Given the description of an element on the screen output the (x, y) to click on. 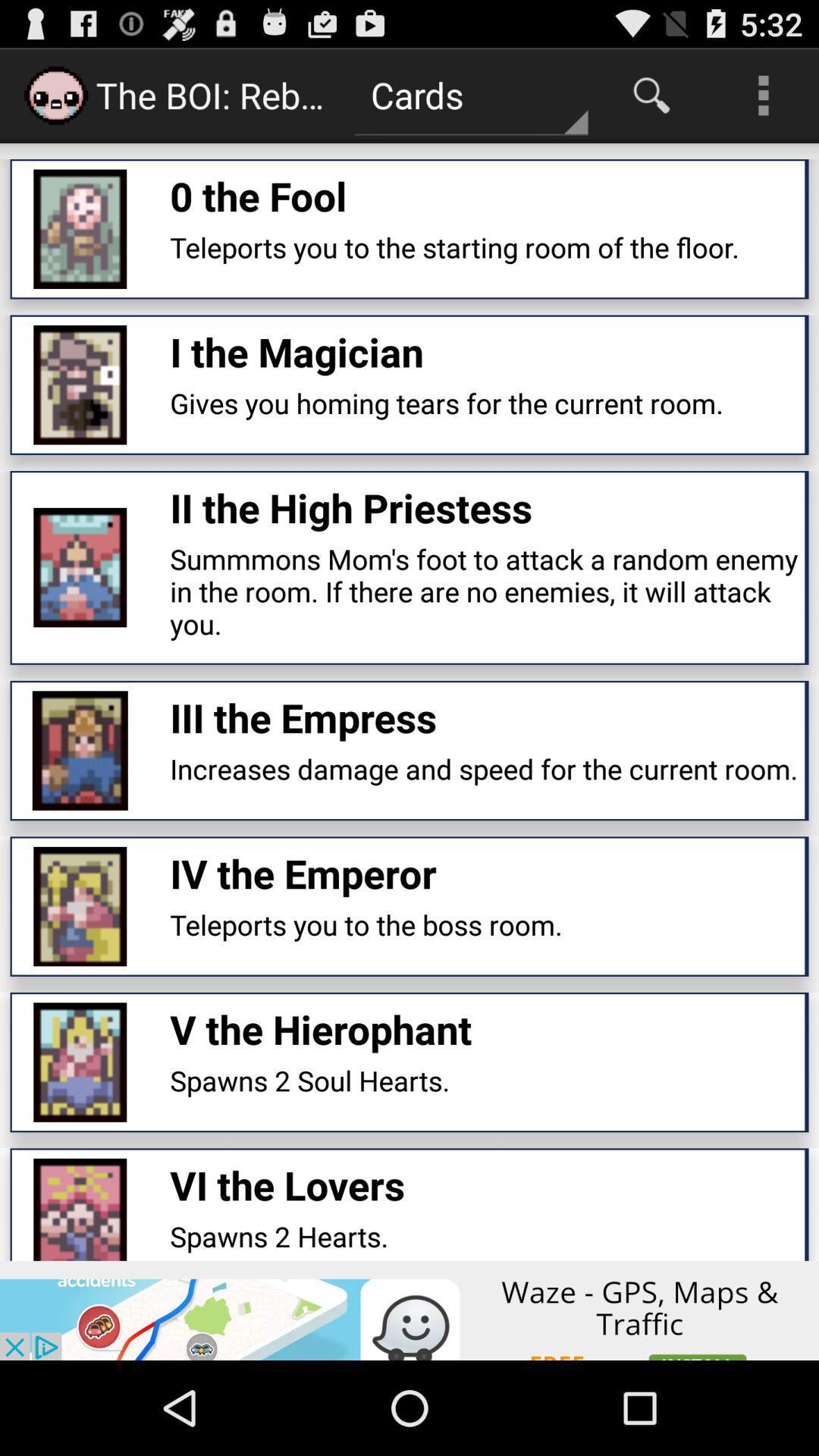
go to advertisement (409, 1310)
